Given the description of an element on the screen output the (x, y) to click on. 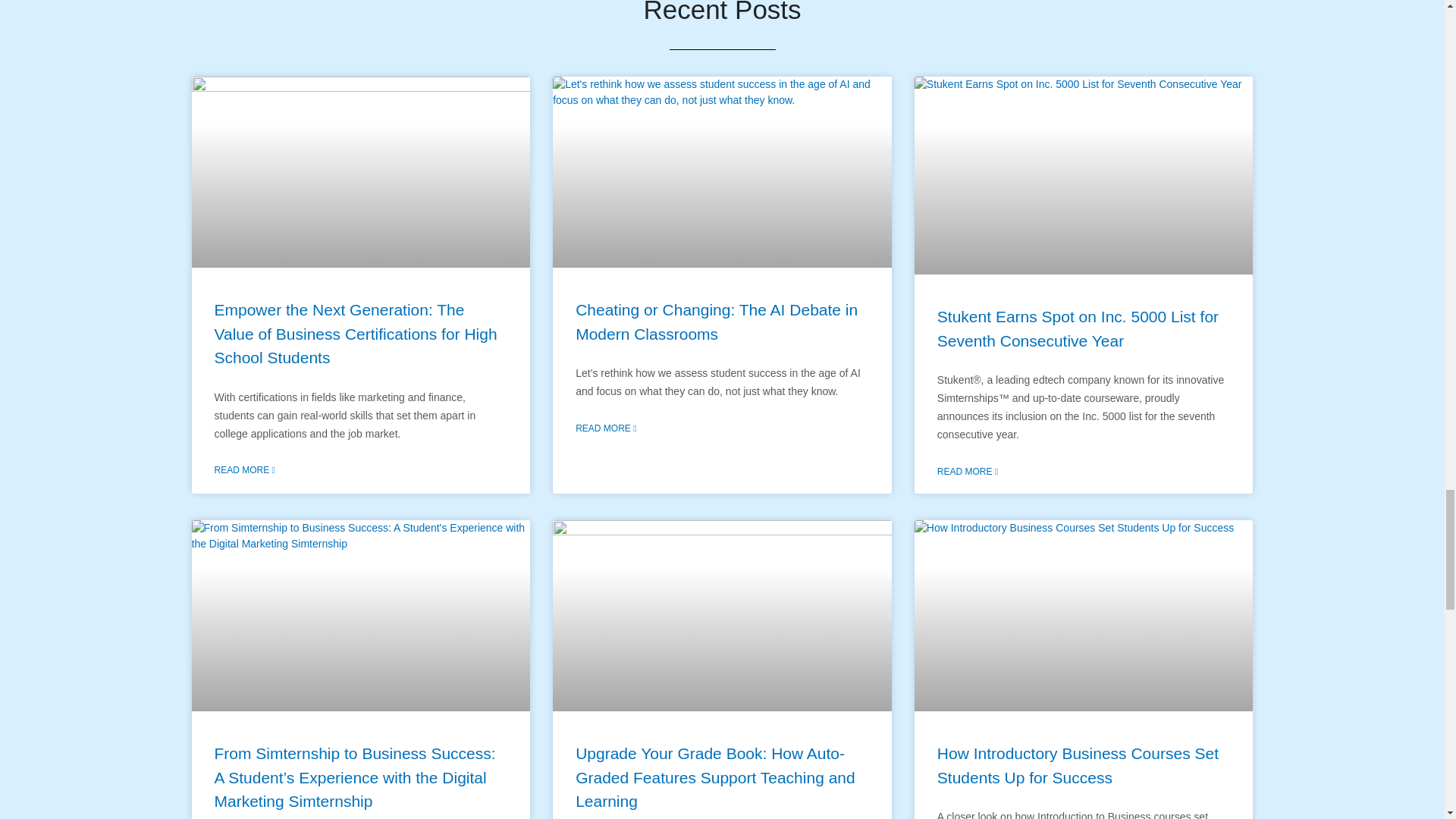
READ MORE (967, 471)
Cheating or Changing: The AI Debate in Modern Classrooms (716, 322)
READ MORE (605, 427)
READ MORE (244, 469)
